Given the description of an element on the screen output the (x, y) to click on. 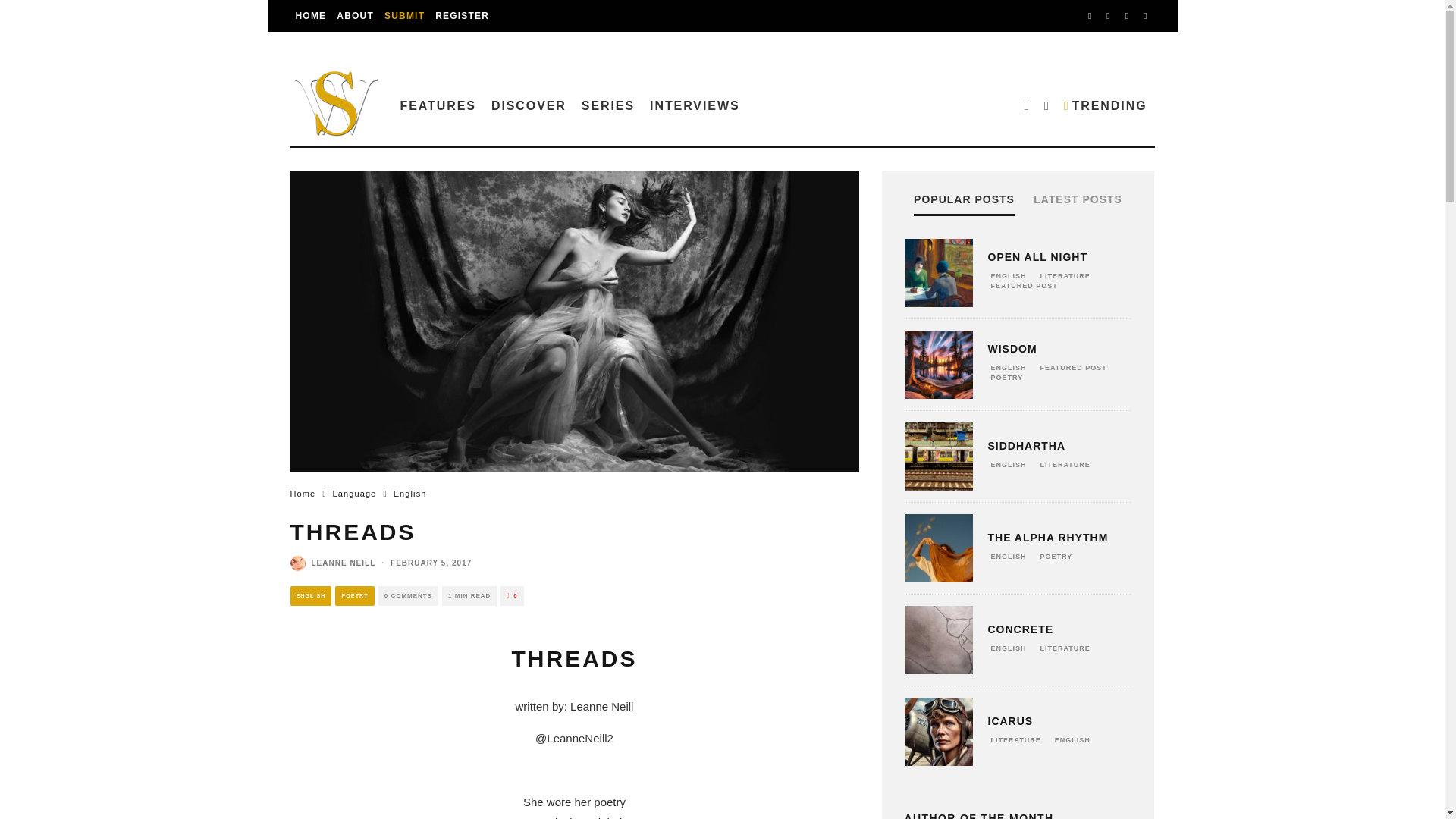
ABOUT (354, 15)
FEATURES (438, 104)
SUBMIT (403, 15)
REGISTER (462, 15)
DISCOVER (528, 104)
HOME (310, 15)
